Given the description of an element on the screen output the (x, y) to click on. 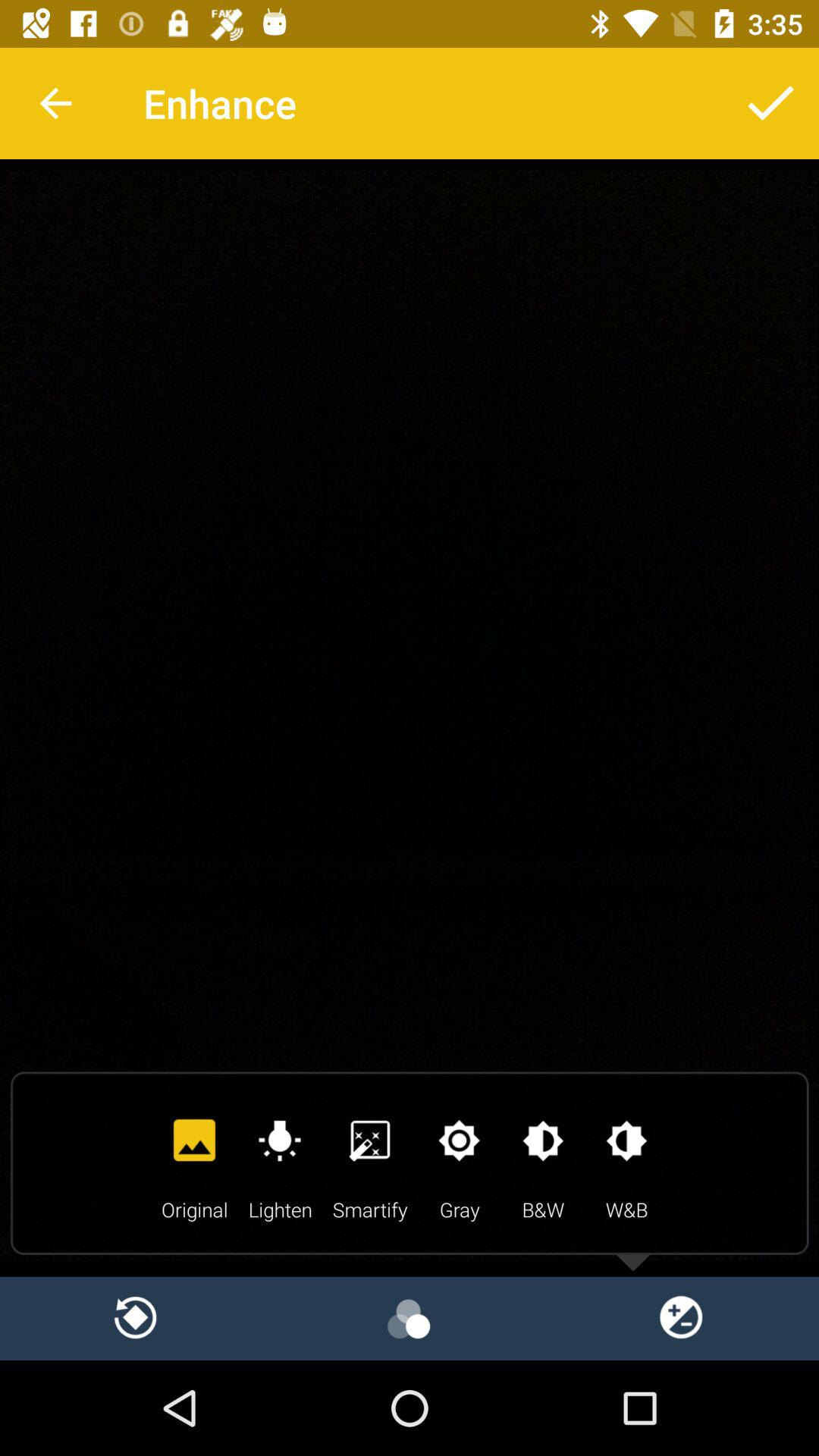
filter option (409, 1318)
